Given the description of an element on the screen output the (x, y) to click on. 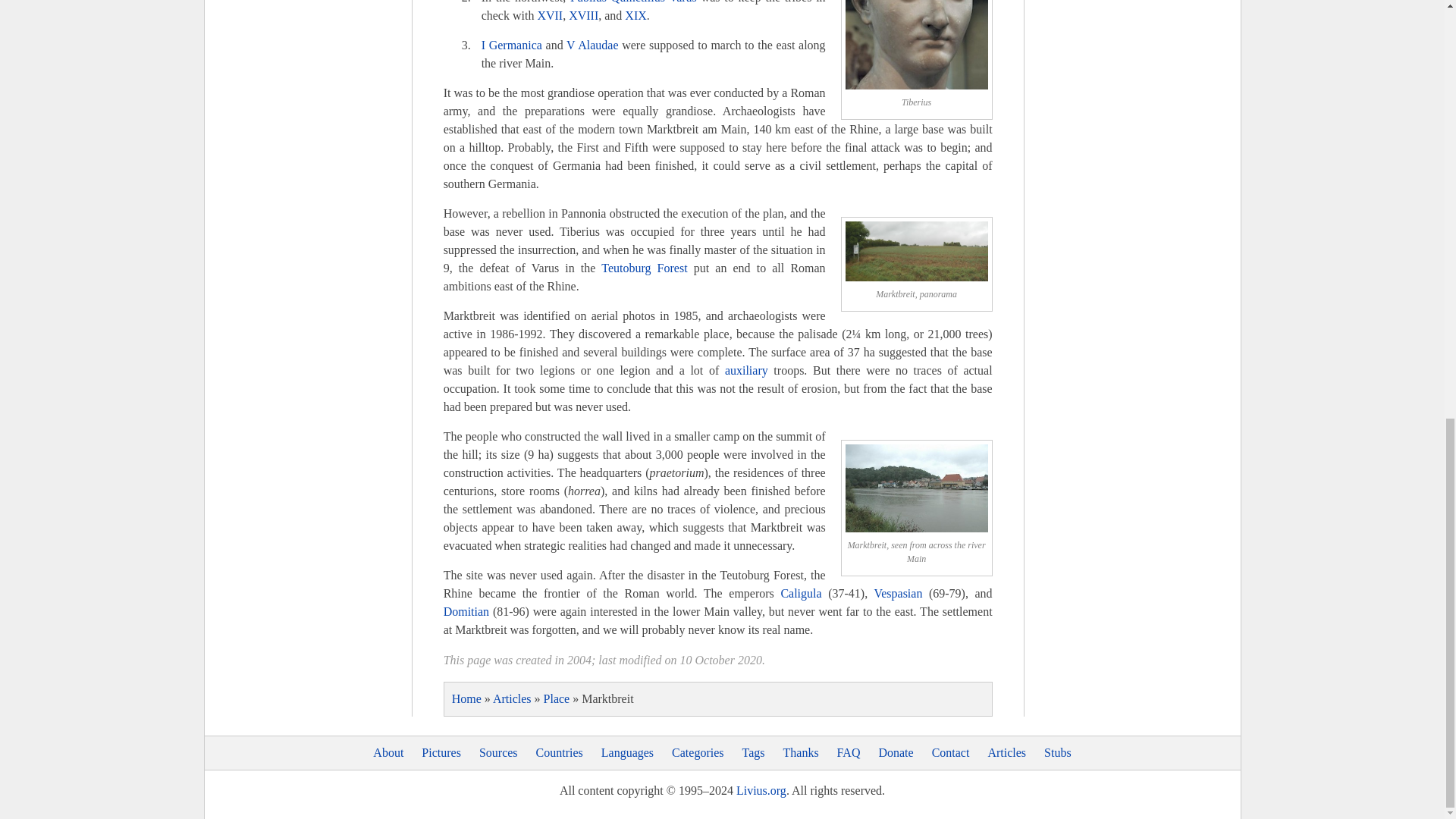
Teutoburg Forest (644, 267)
I Germanica (511, 44)
Vespasian (897, 593)
Articles (512, 698)
Publius Quinctilius Varus (633, 2)
Caligula (800, 593)
Place (556, 698)
Domitian (466, 611)
XVIII (583, 15)
auxiliary (746, 369)
